Given the description of an element on the screen output the (x, y) to click on. 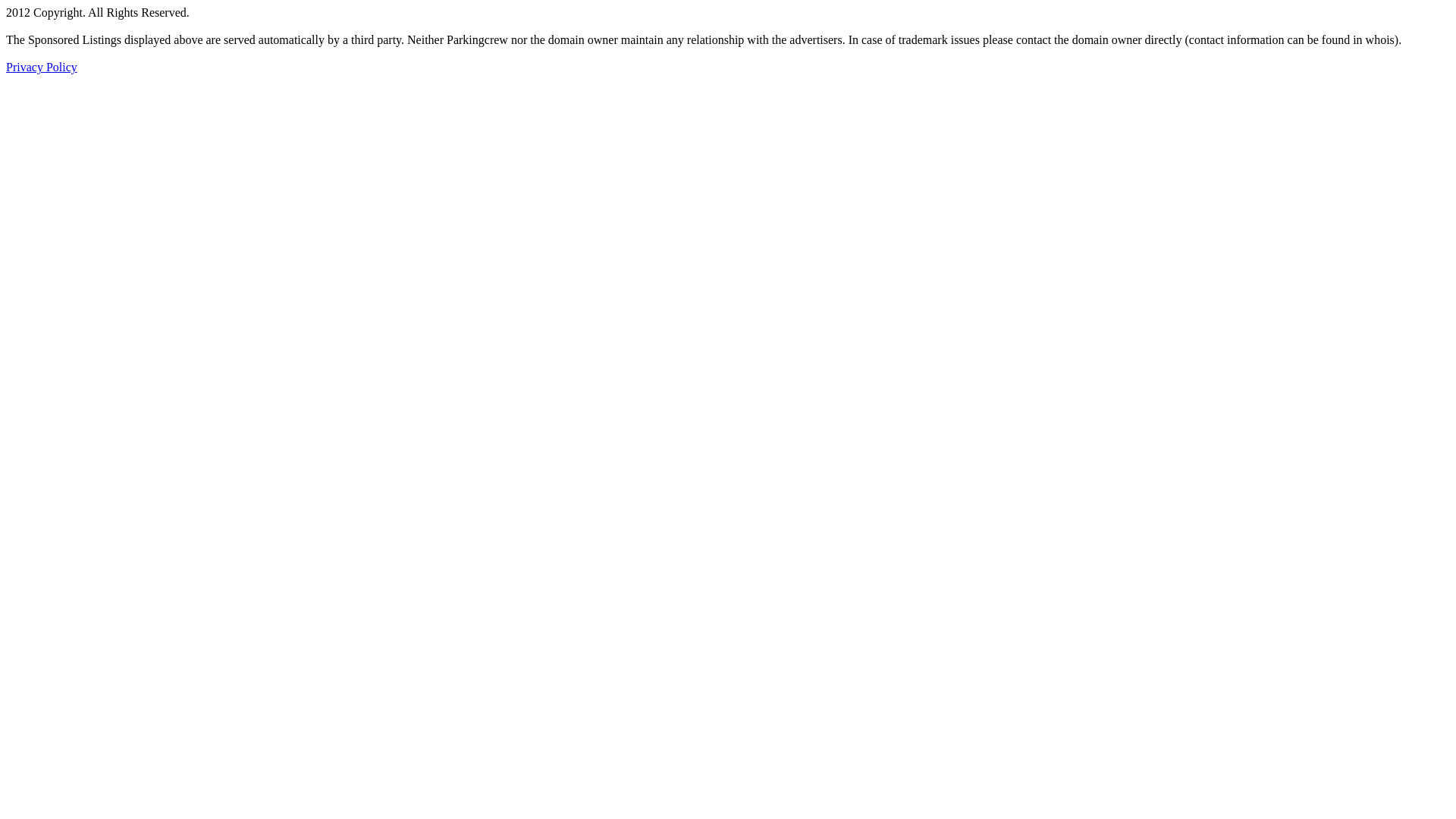
Privacy Policy Element type: text (41, 66)
